Given the description of an element on the screen output the (x, y) to click on. 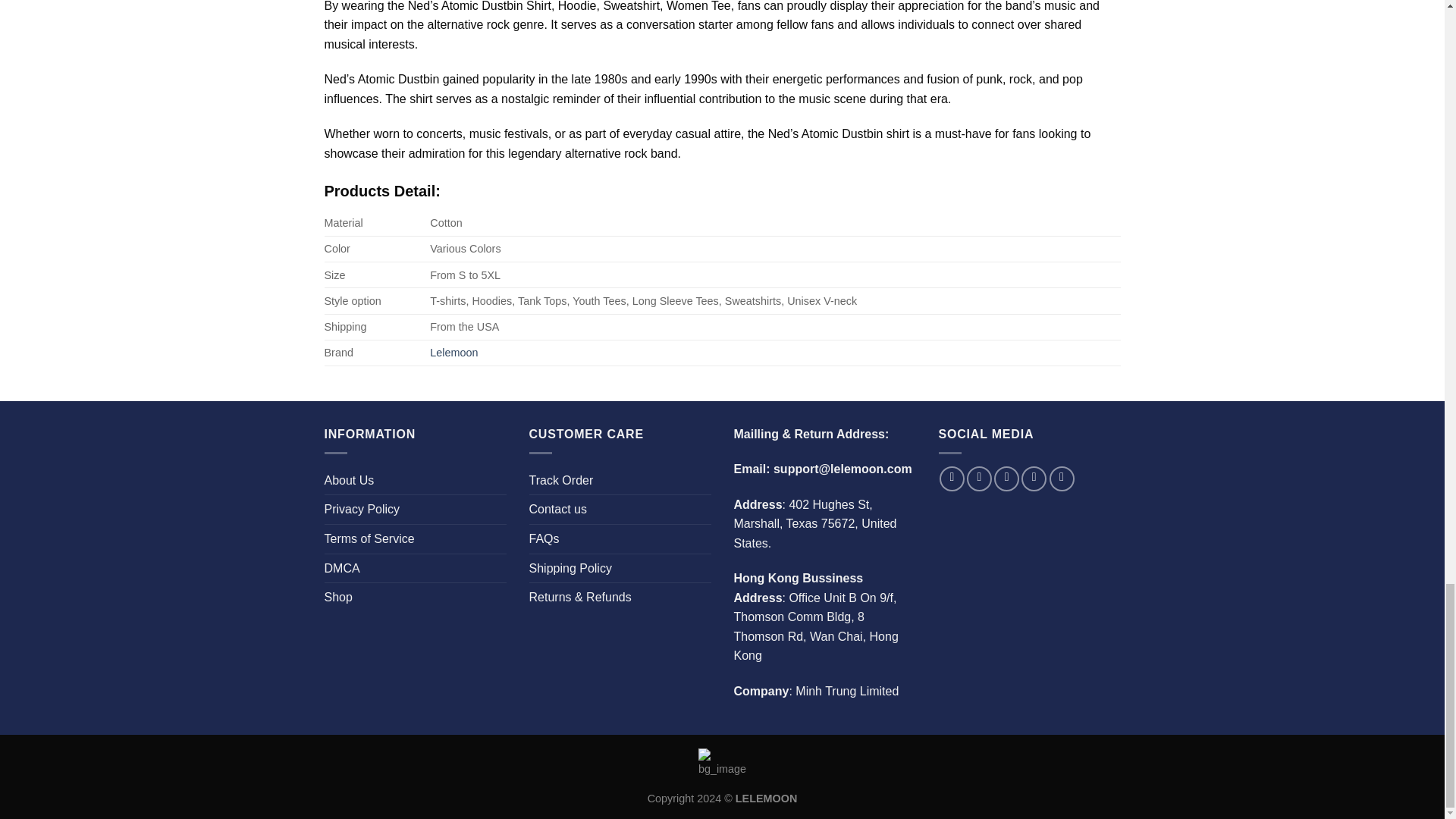
DMCA (341, 568)
About Us (349, 480)
Shipping Policy (570, 568)
Contact us (557, 509)
Shop (338, 597)
Privacy Policy (362, 509)
Lelemoon (453, 352)
Track Order (561, 480)
Terms of Service (369, 538)
FAQs (544, 538)
